Given the description of an element on the screen output the (x, y) to click on. 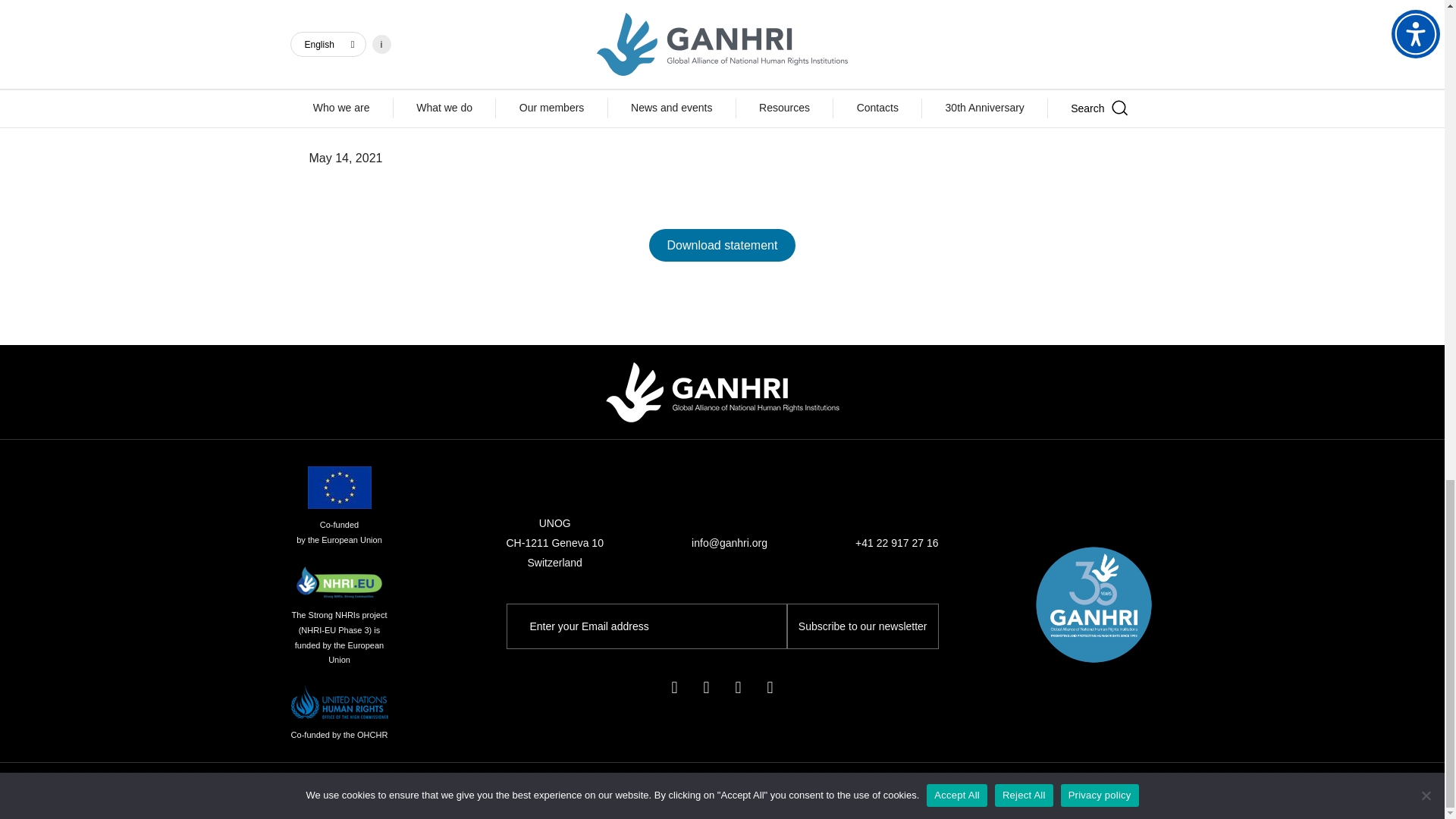
Subscribe to our newsletter (863, 626)
